Given the description of an element on the screen output the (x, y) to click on. 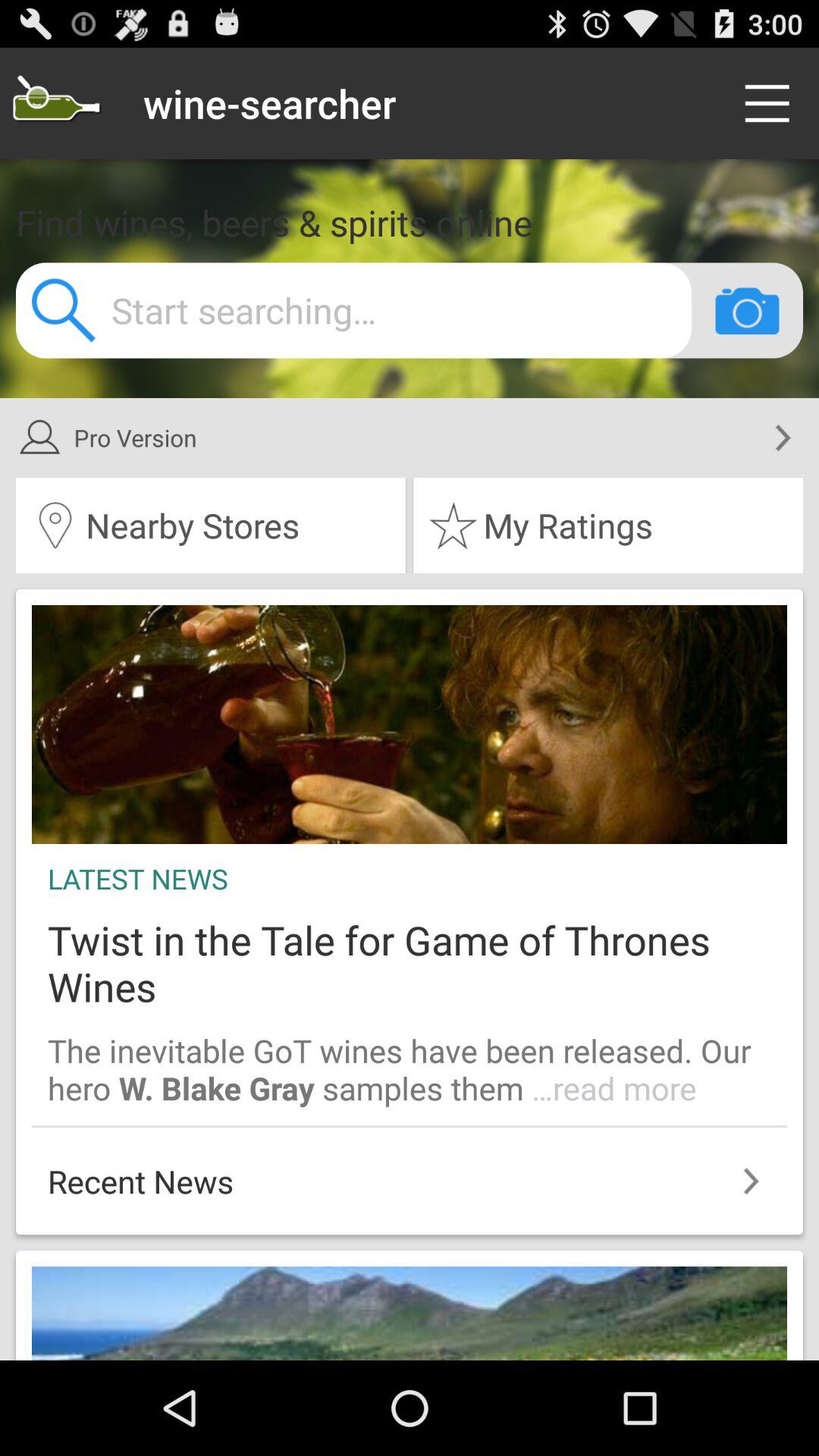
turn on icon next to wine-searcher item (771, 103)
